Given the description of an element on the screen output the (x, y) to click on. 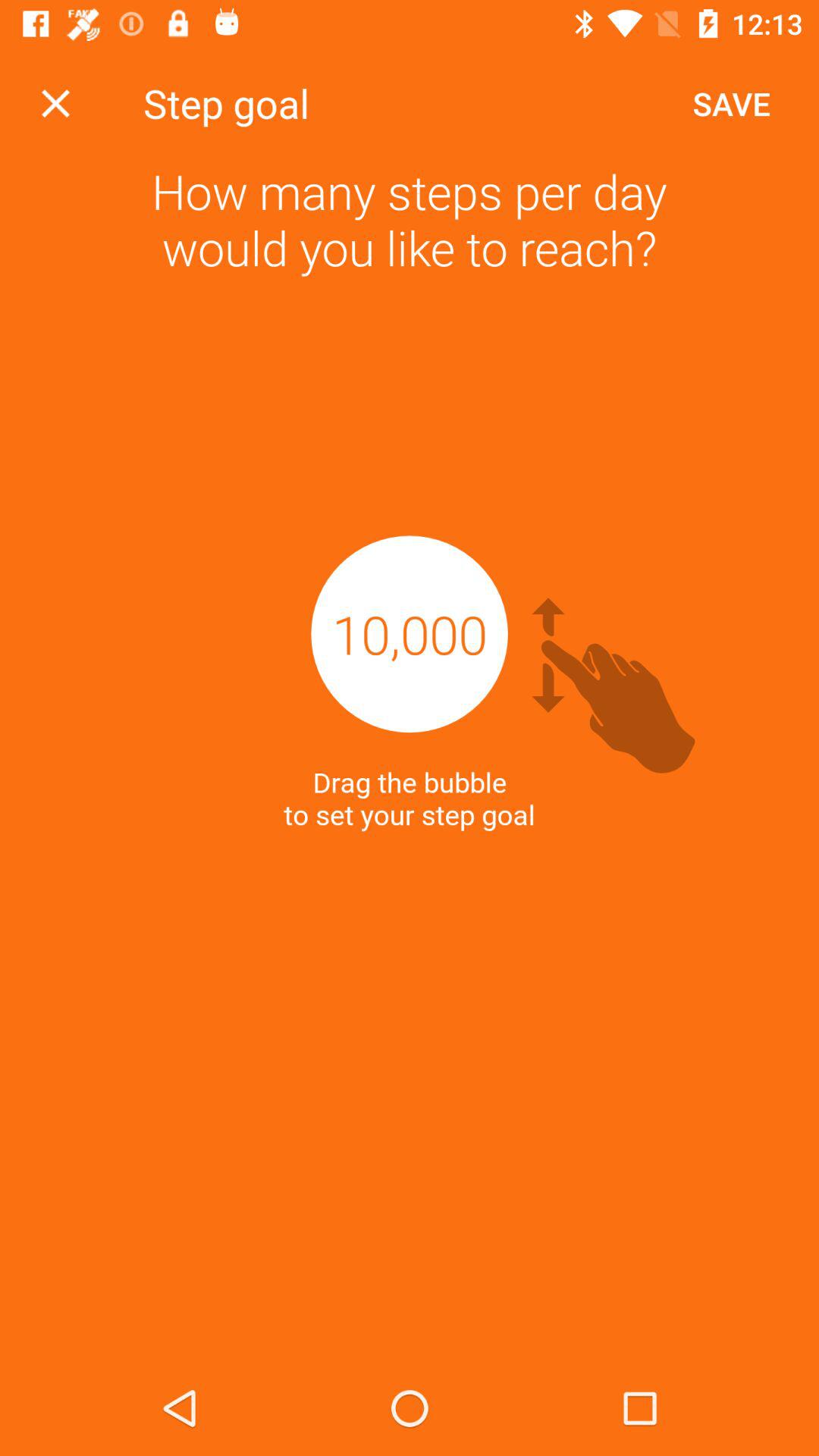
choose the item to the left of step goal icon (55, 103)
